Given the description of an element on the screen output the (x, y) to click on. 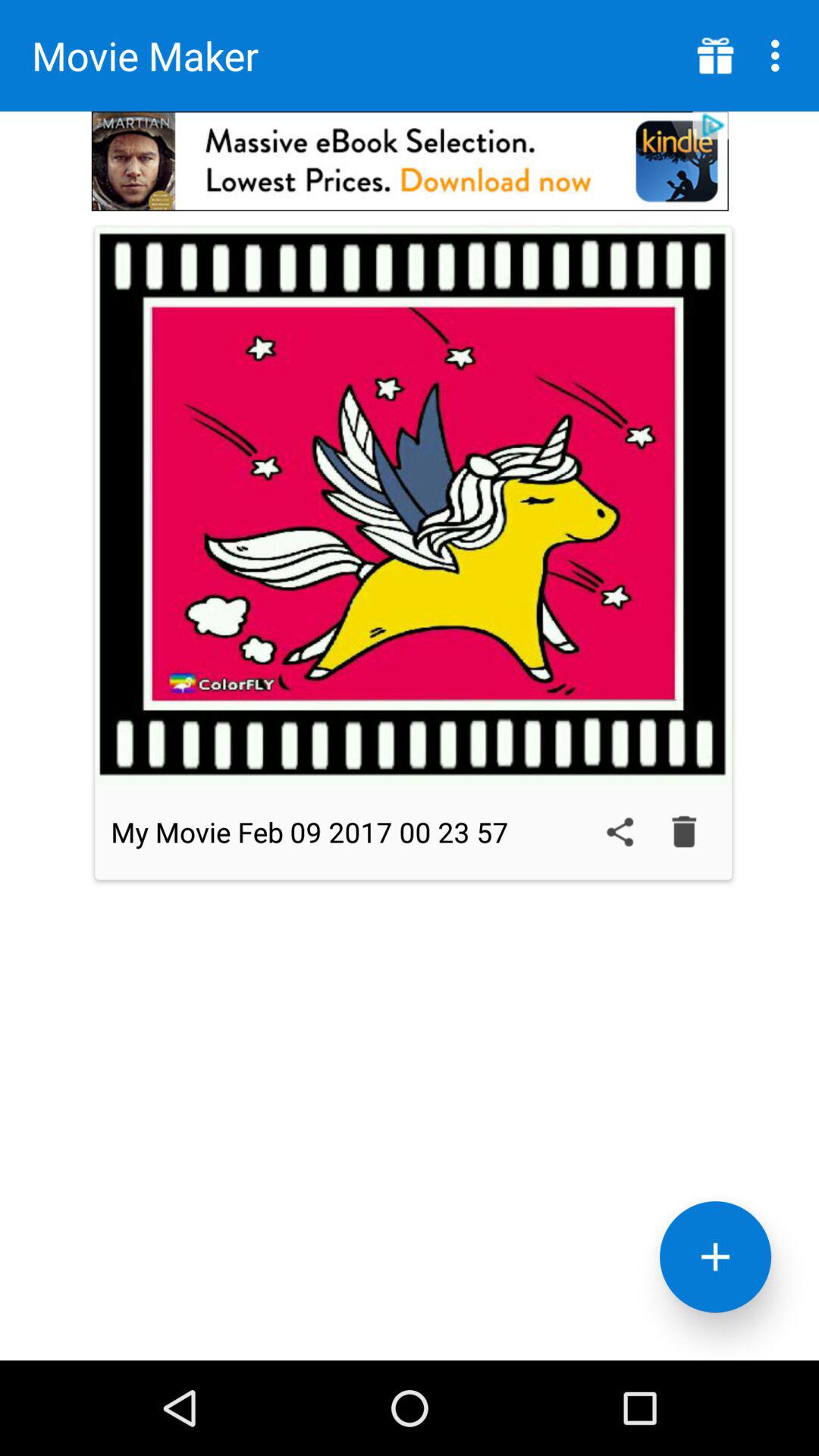
go to image (412, 505)
